Given the description of an element on the screen output the (x, y) to click on. 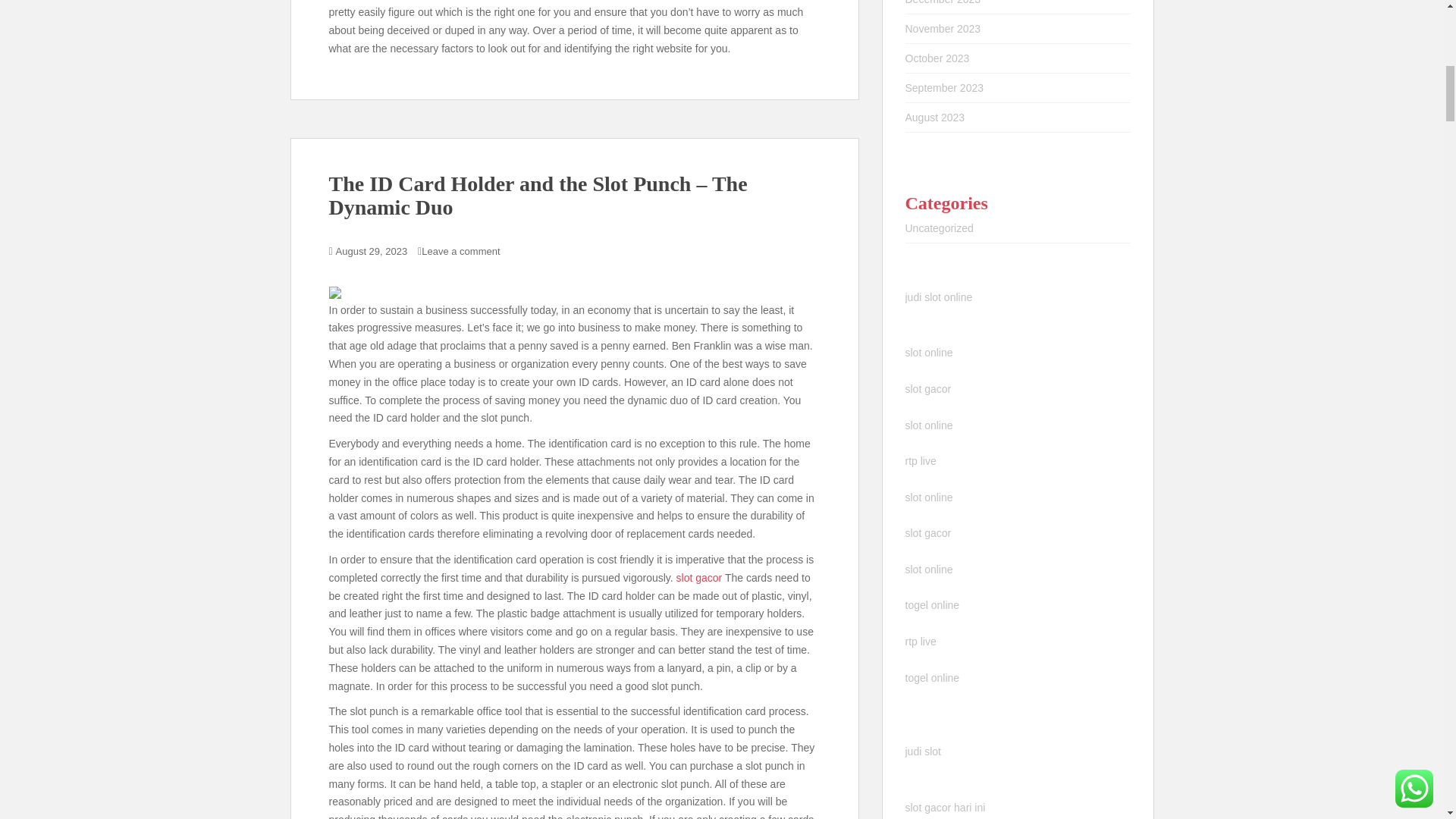
slot gacor (699, 577)
Leave a comment (460, 251)
August 29, 2023 (371, 251)
